Given the description of an element on the screen output the (x, y) to click on. 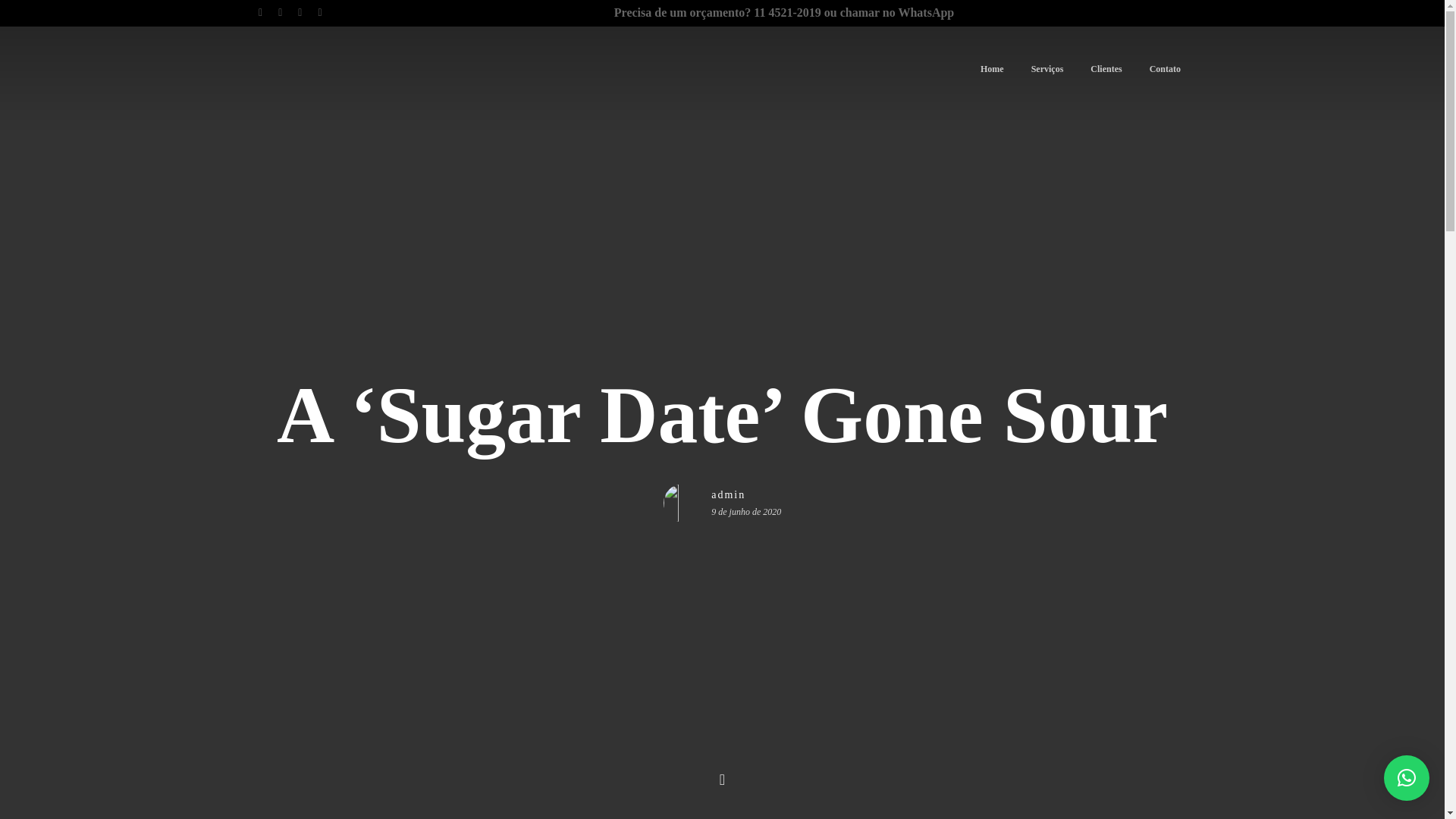
Home (991, 67)
admin (745, 495)
Contato (1164, 67)
Clientes (1106, 67)
Posts de admin (745, 495)
